Given the description of an element on the screen output the (x, y) to click on. 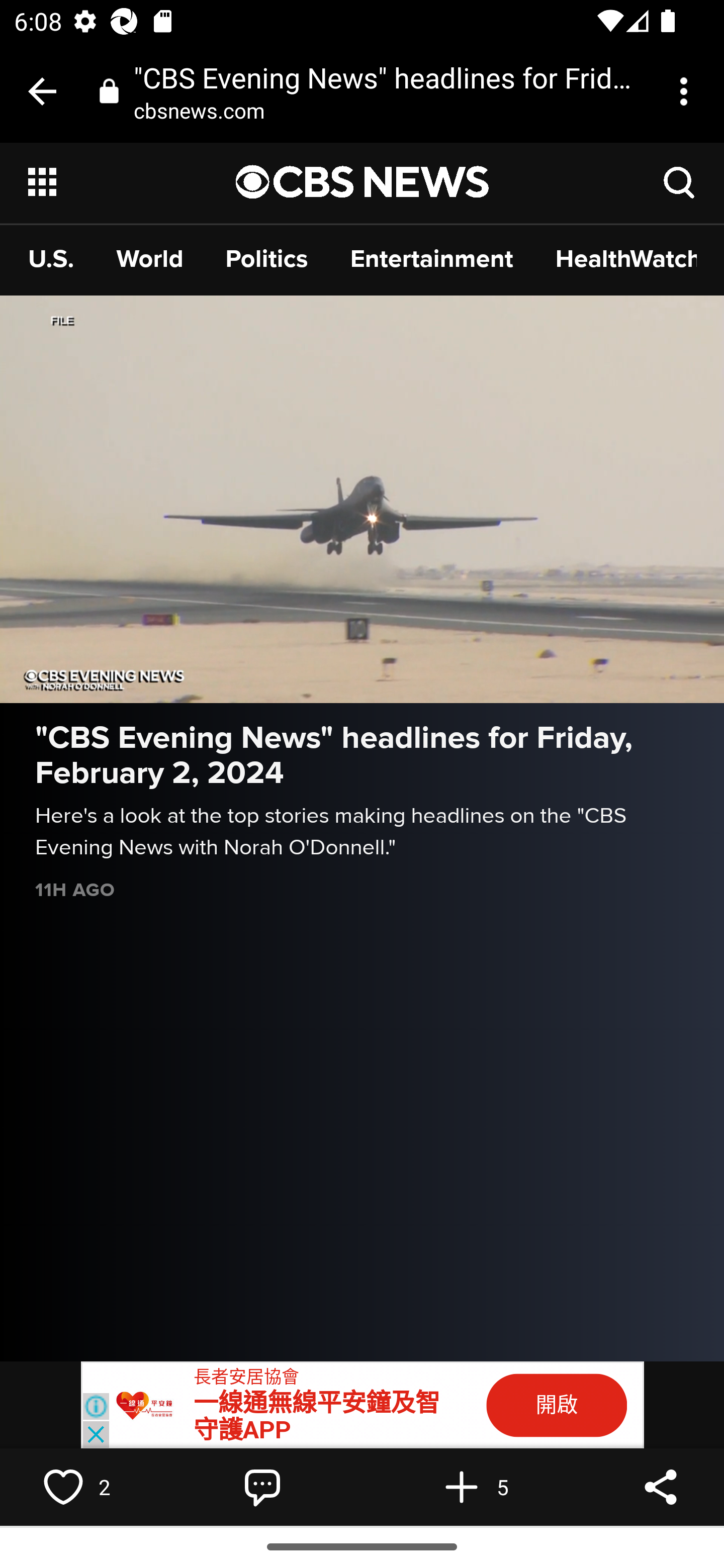
Close tab (42, 91)
More options (687, 91)
Connection is secure (108, 90)
cbsnews.com (205, 109)
search (679, 180)
Go to CBS News National home page (362, 181)
Open the site navigation (132, 181)
U.S. (51, 258)
World (149, 258)
Politics (267, 258)
Entertainment (431, 258)
HealthWatch (625, 258)
Media Player (362, 499)
長者安居協會 (246, 1376)
開啟 (556, 1404)
一線通無線平安鐘及智 守護APP 一線通無線平安鐘及智 守護APP (317, 1416)
Like (63, 1486)
Write a comment… (262, 1486)
Flip into Magazine (461, 1486)
Share (660, 1486)
